Given the description of an element on the screen output the (x, y) to click on. 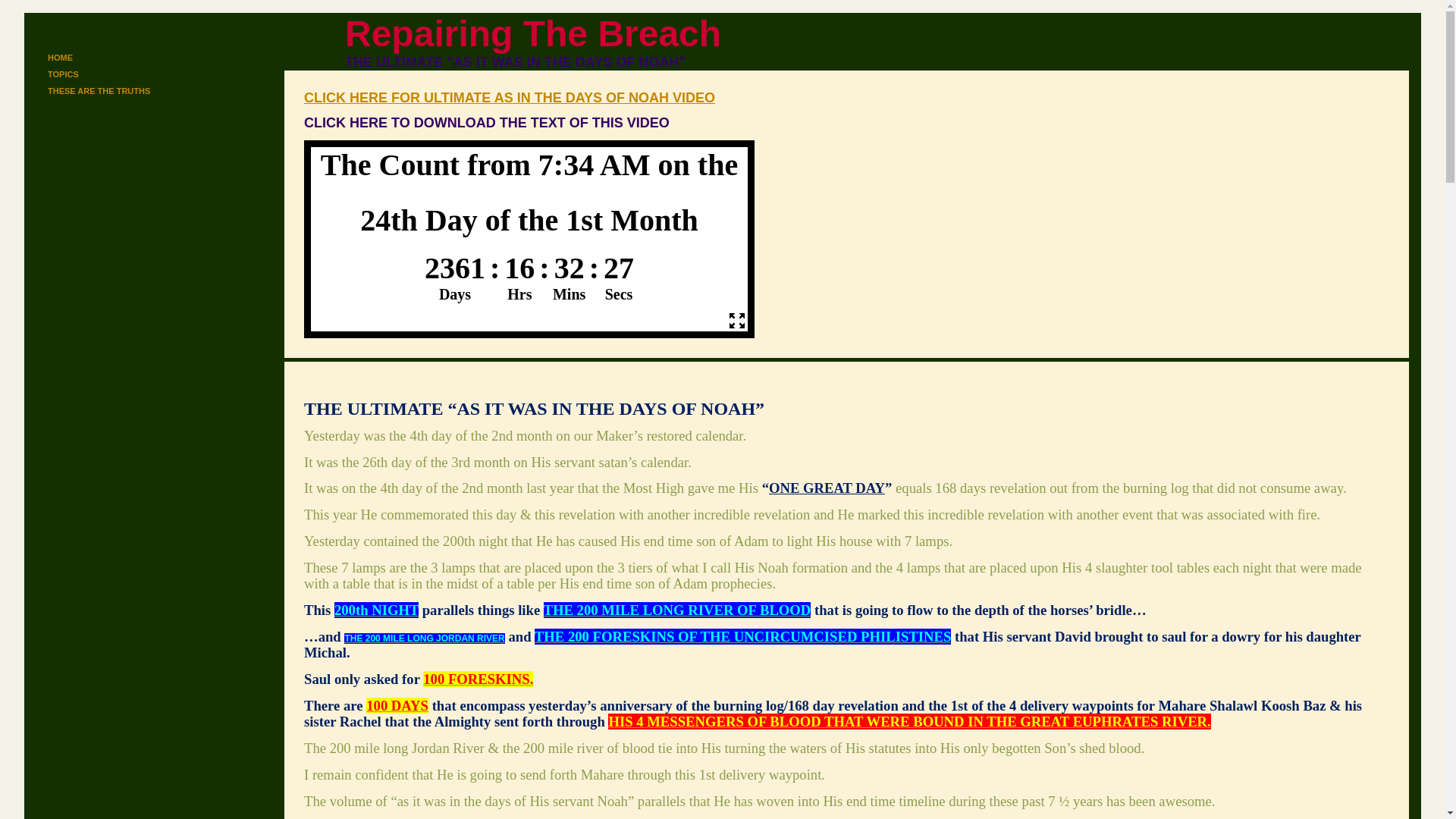
CLICK HERE FOR ULTIMATE AS IN THE DAYS OF NOAH VIDEO (509, 97)
TOPICS (116, 74)
THESE ARE THE TRUTHS (116, 90)
HOME (116, 57)
CLICK HERE TO DOWNLOAD THE TEXT OF THIS VIDEO (486, 122)
